Given the description of an element on the screen output the (x, y) to click on. 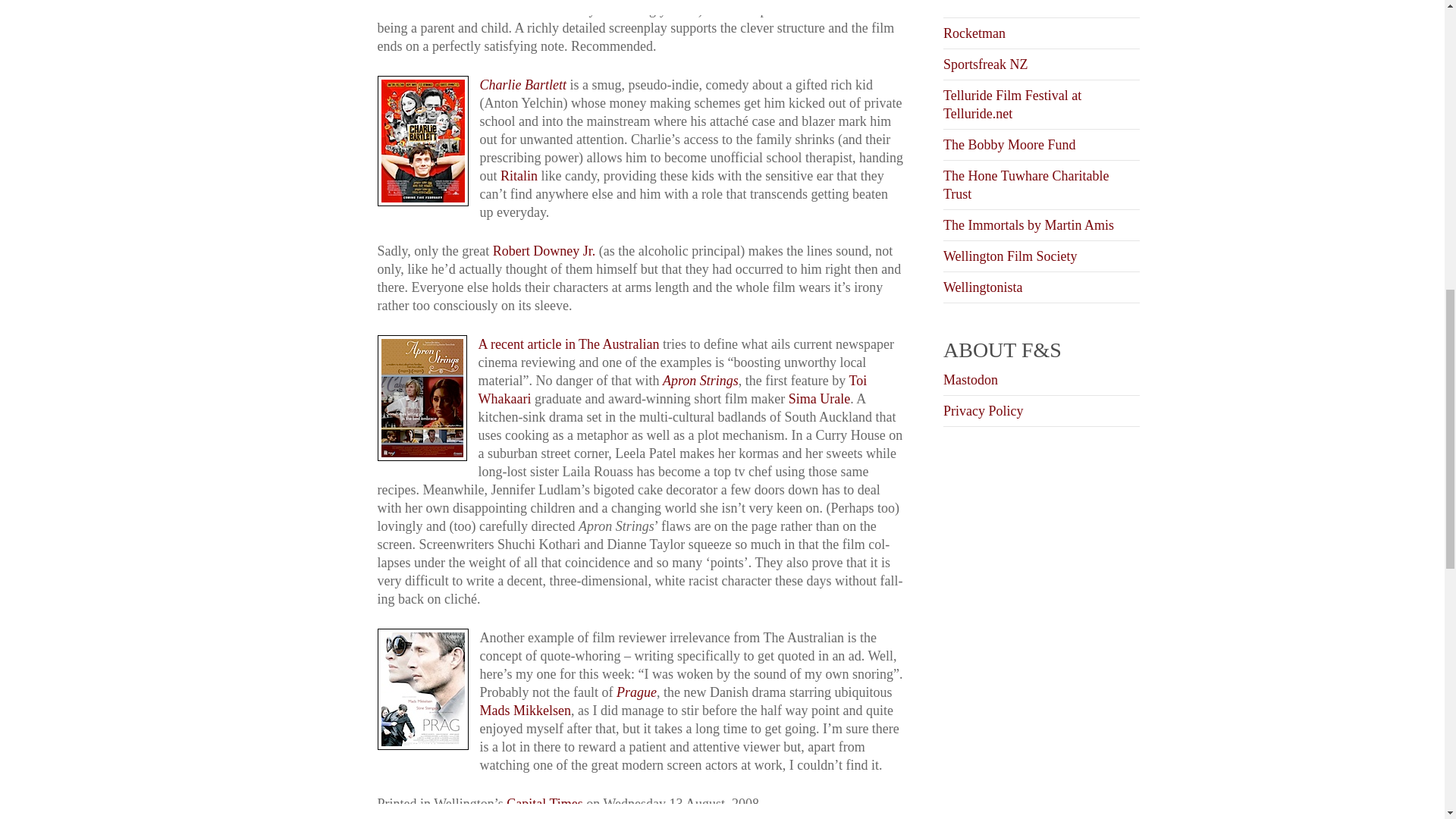
Sima Urale interviewed at Feminista (819, 398)
Toi Whakaari New Zealand Drama School (671, 389)
Robert Downey Jr. (544, 250)
Charlie Bartlett (522, 84)
Ritalin at drugs.com (518, 175)
Apron Strings at Rialto Entertainment (700, 380)
Charlie Bartlett official site (522, 84)
Destructive Criticism in The Australian (593, 344)
Apron Strings (700, 380)
Ritalin (518, 175)
A recent (502, 344)
